Given the description of an element on the screen output the (x, y) to click on. 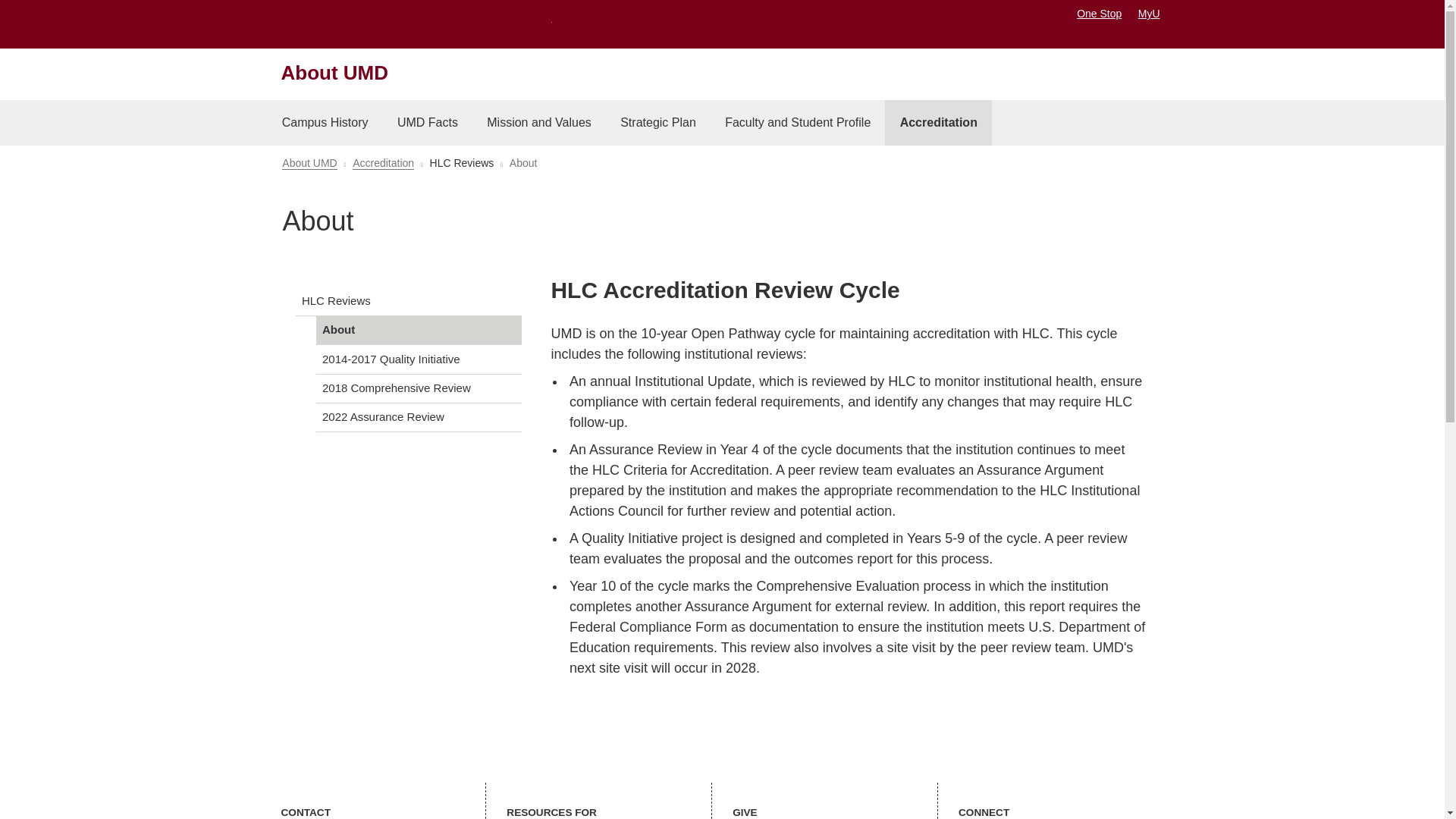
MyU (1154, 13)
UMD Facts (426, 122)
One Stop (1099, 13)
2018 Comprehensive Review (418, 388)
About (418, 329)
Campus History (323, 122)
Accreditation (382, 163)
About UMD (334, 72)
About UMD (309, 163)
